Given the description of an element on the screen output the (x, y) to click on. 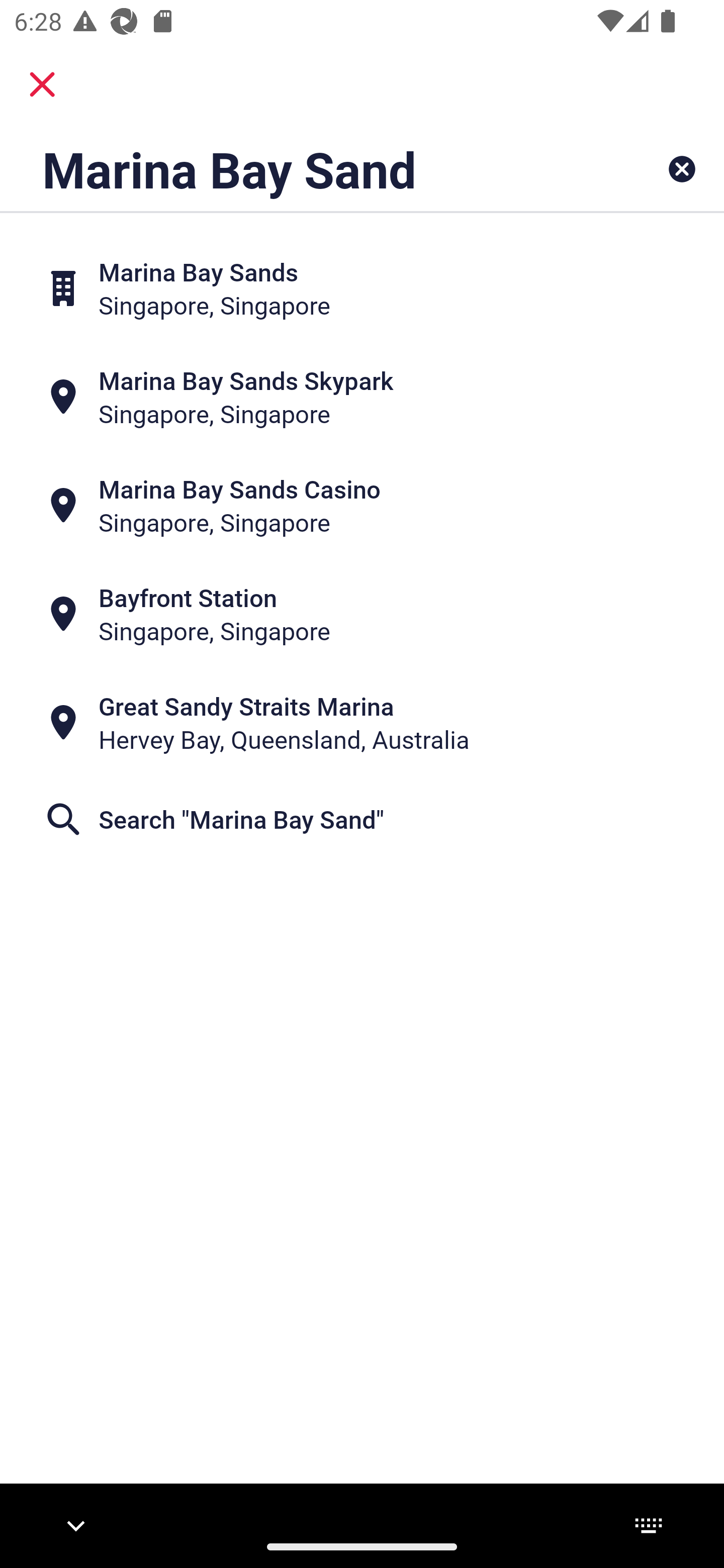
close. (42, 84)
Clear (681, 169)
Marina Bay Sand (298, 169)
Marina Bay Sands Singapore, Singapore (362, 288)
Marina Bay Sands Skypark Singapore, Singapore (362, 397)
Marina Bay Sands Casino Singapore, Singapore (362, 505)
Bayfront Station Singapore, Singapore (362, 613)
Search "Marina Bay Sand" (362, 818)
